Given the description of an element on the screen output the (x, y) to click on. 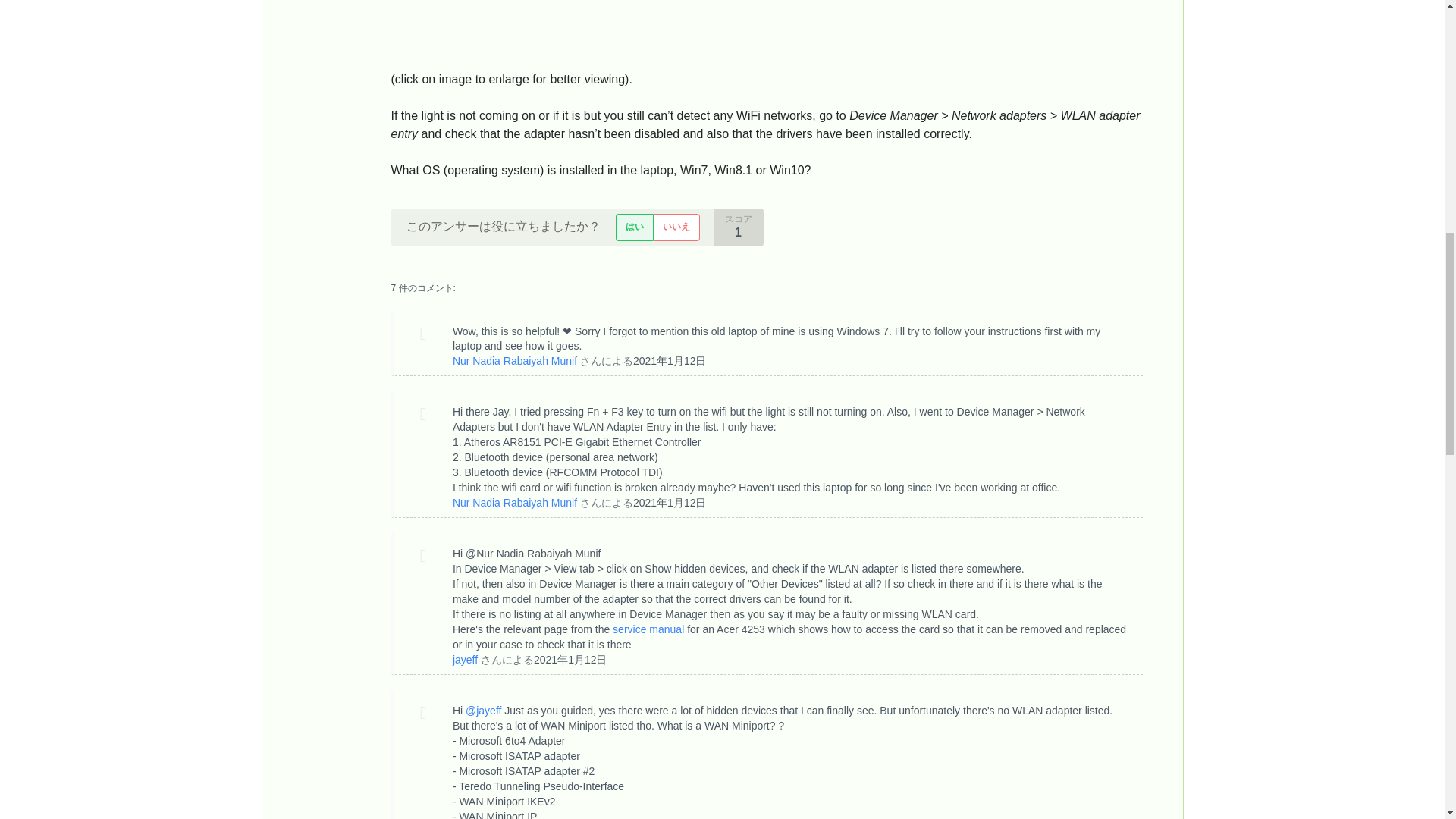
Tue, 12 Jan 2021 21:50:21 -0700 (669, 502)
Tue, 12 Jan 2021 22:29:37 -0700 (570, 659)
Tue, 12 Jan 2021 21:32:43 -0700 (669, 360)
Nur Nadia Rabaiyah Munif (514, 360)
